Given the description of an element on the screen output the (x, y) to click on. 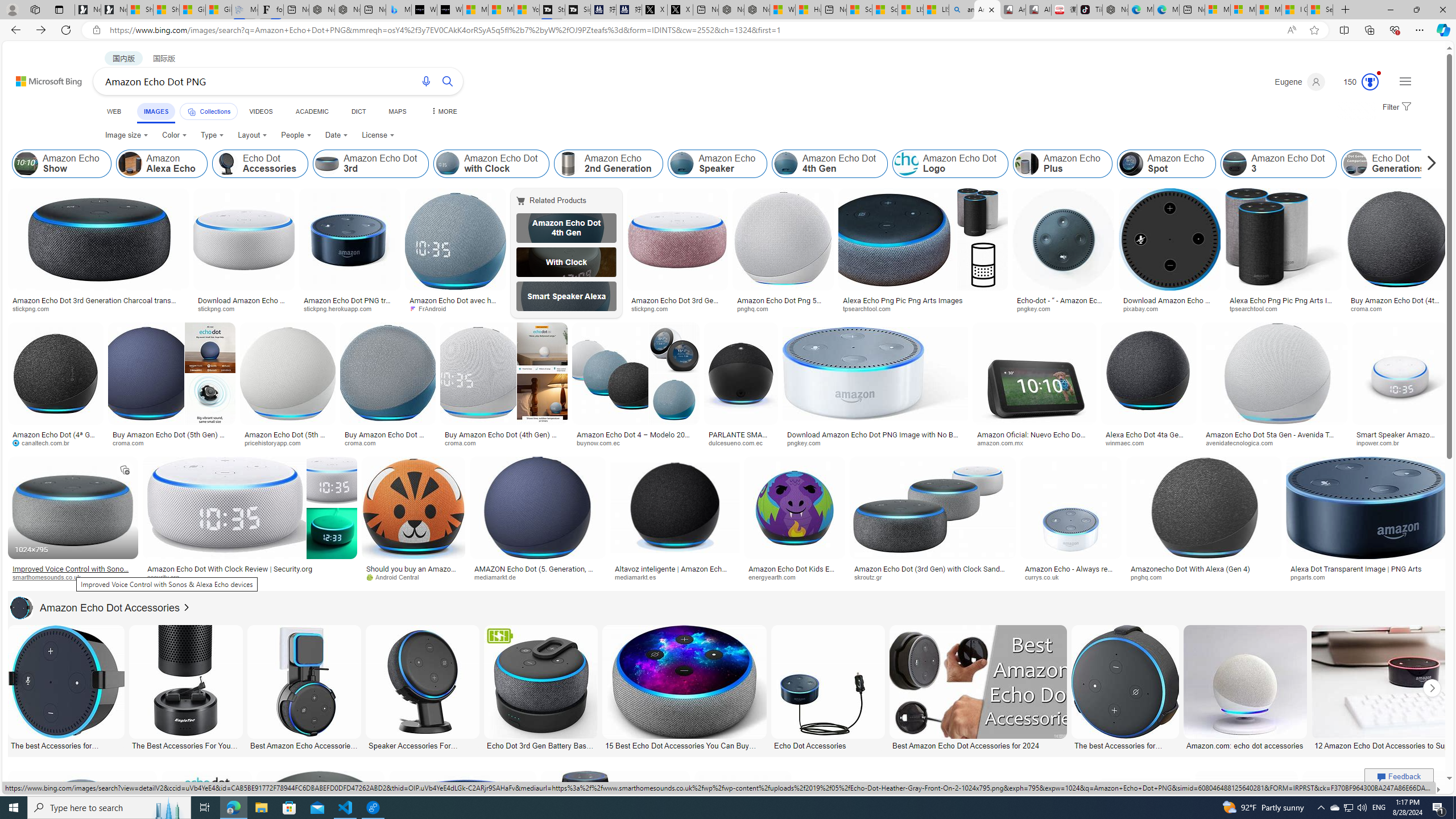
buynow.com.ec (601, 442)
I Gained 20 Pounds of Muscle in 30 Days! | Watch (1293, 9)
Best Amazon Echo Accessories - Tech Advisor (304, 744)
DICT (357, 111)
currys.co.uk (1070, 576)
